Given the description of an element on the screen output the (x, y) to click on. 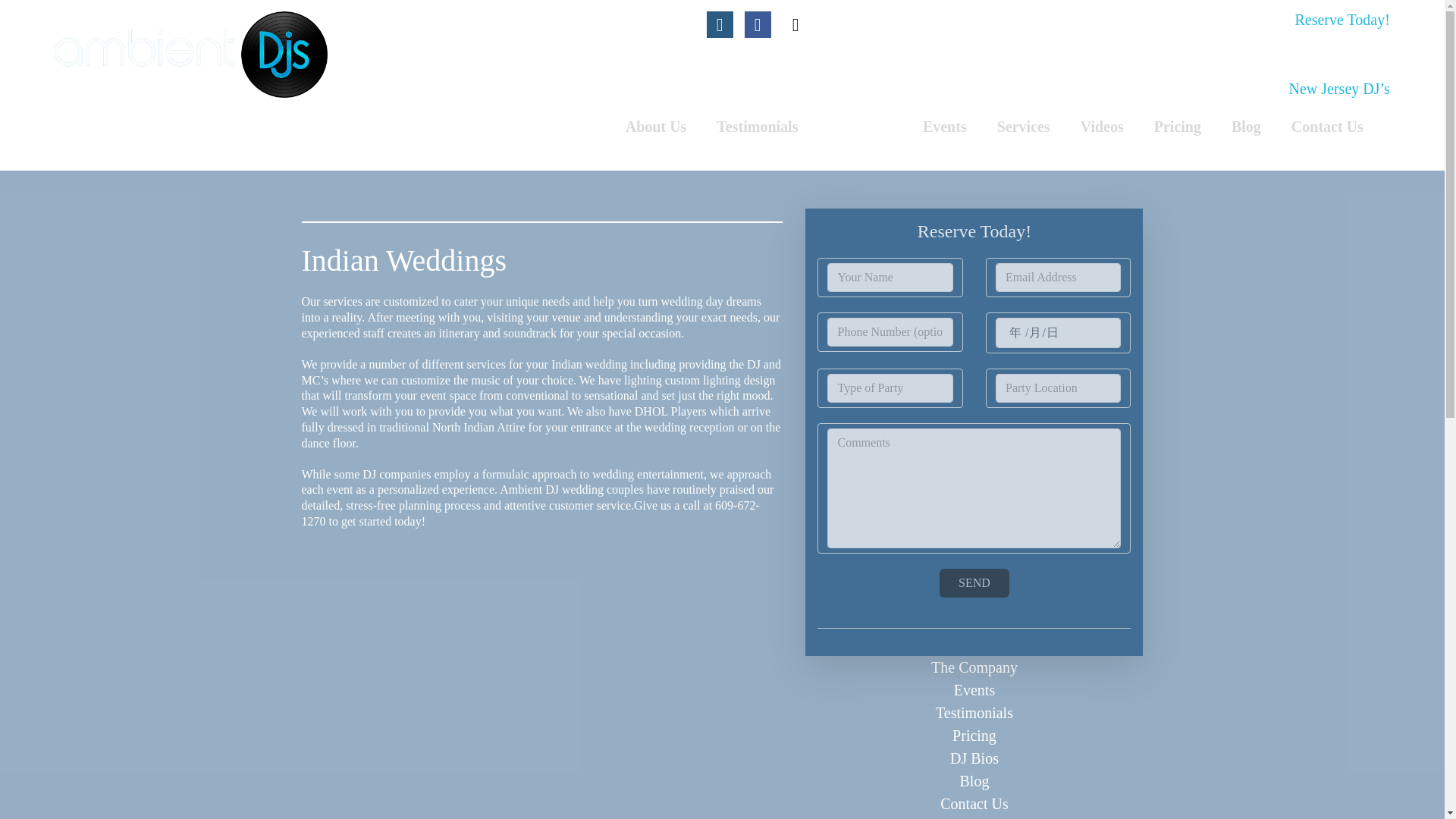
Testimonials (756, 126)
Home (191, 53)
Events (944, 126)
About Us (655, 126)
Send (974, 582)
Weddings (859, 126)
